Given the description of an element on the screen output the (x, y) to click on. 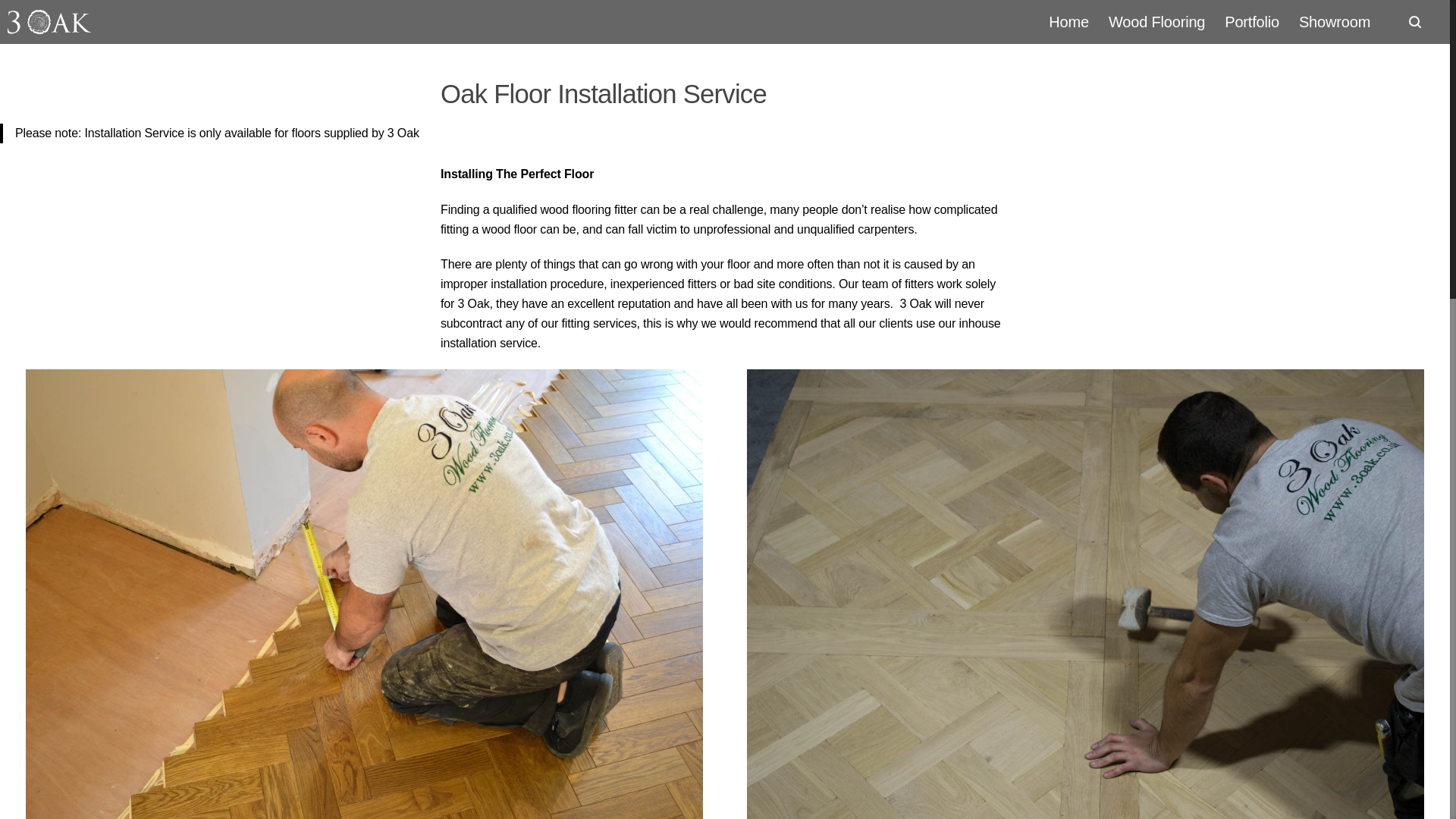
Wood Flooring (1156, 22)
Showroom (1334, 22)
Wood Flooring (1156, 22)
Home (1069, 22)
Portfolio (1251, 22)
Showroom (1334, 22)
Home (1069, 22)
Portfolio (1251, 22)
